Given the description of an element on the screen output the (x, y) to click on. 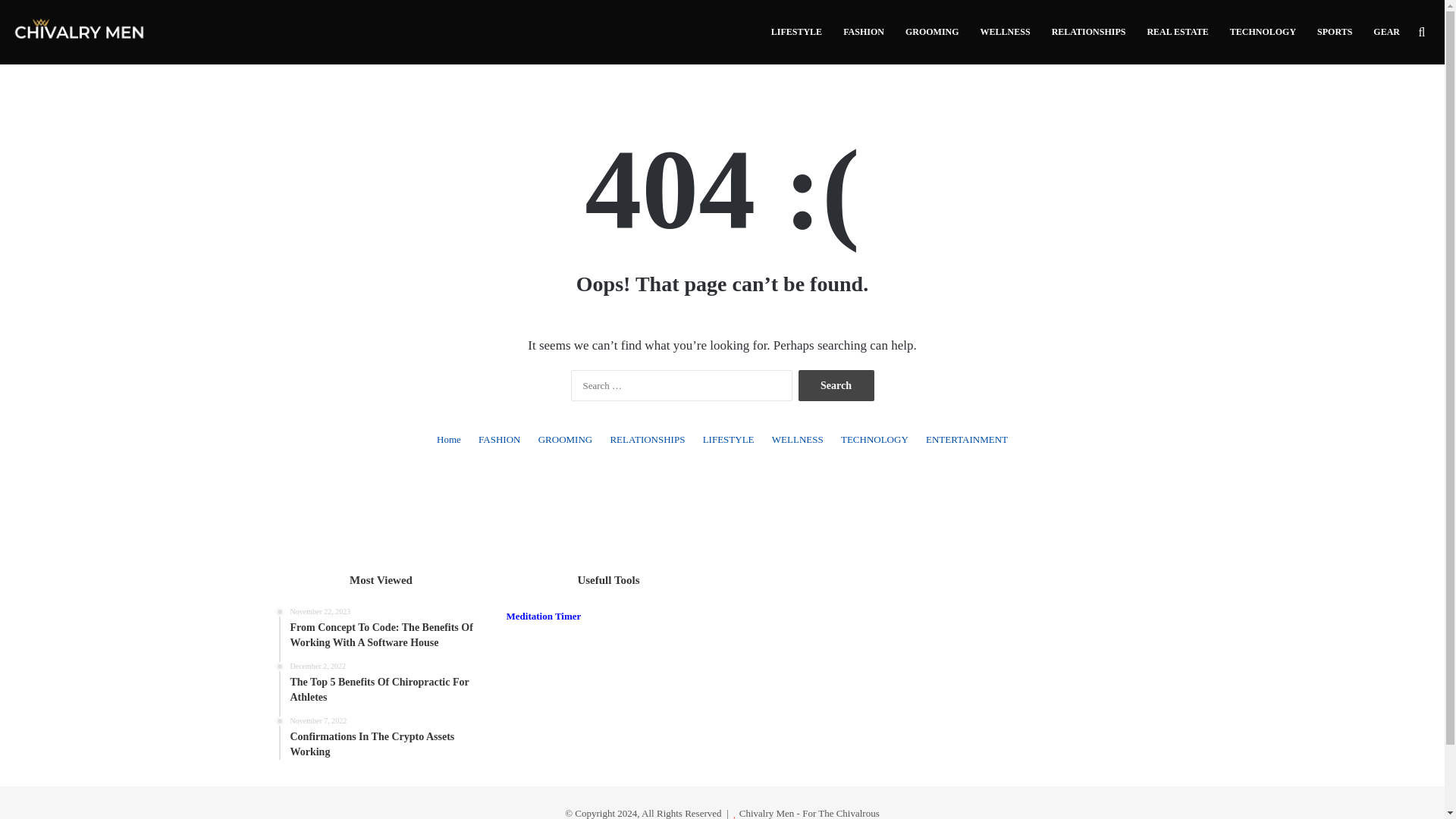
TECHNOLOGY (1263, 32)
Search (835, 385)
WELLNESS (1005, 32)
RELATIONSHIPS (647, 439)
FASHION (386, 737)
REAL ESTATE (863, 32)
Search (1176, 32)
